Given the description of an element on the screen output the (x, y) to click on. 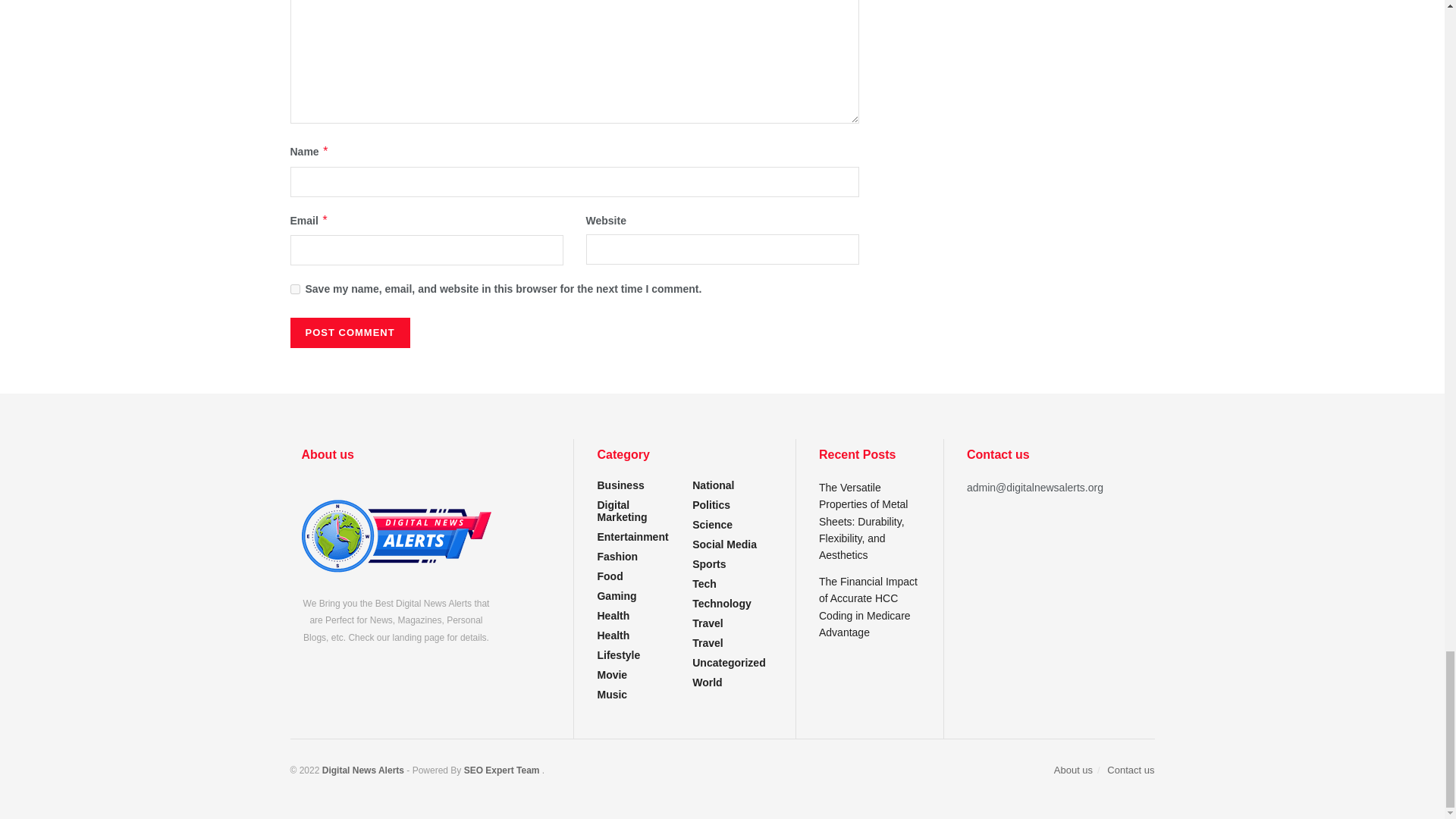
Umair Ali (501, 769)
Post Comment (349, 332)
About us (396, 535)
Digital News Alerts (364, 769)
yes (294, 289)
